Given the description of an element on the screen output the (x, y) to click on. 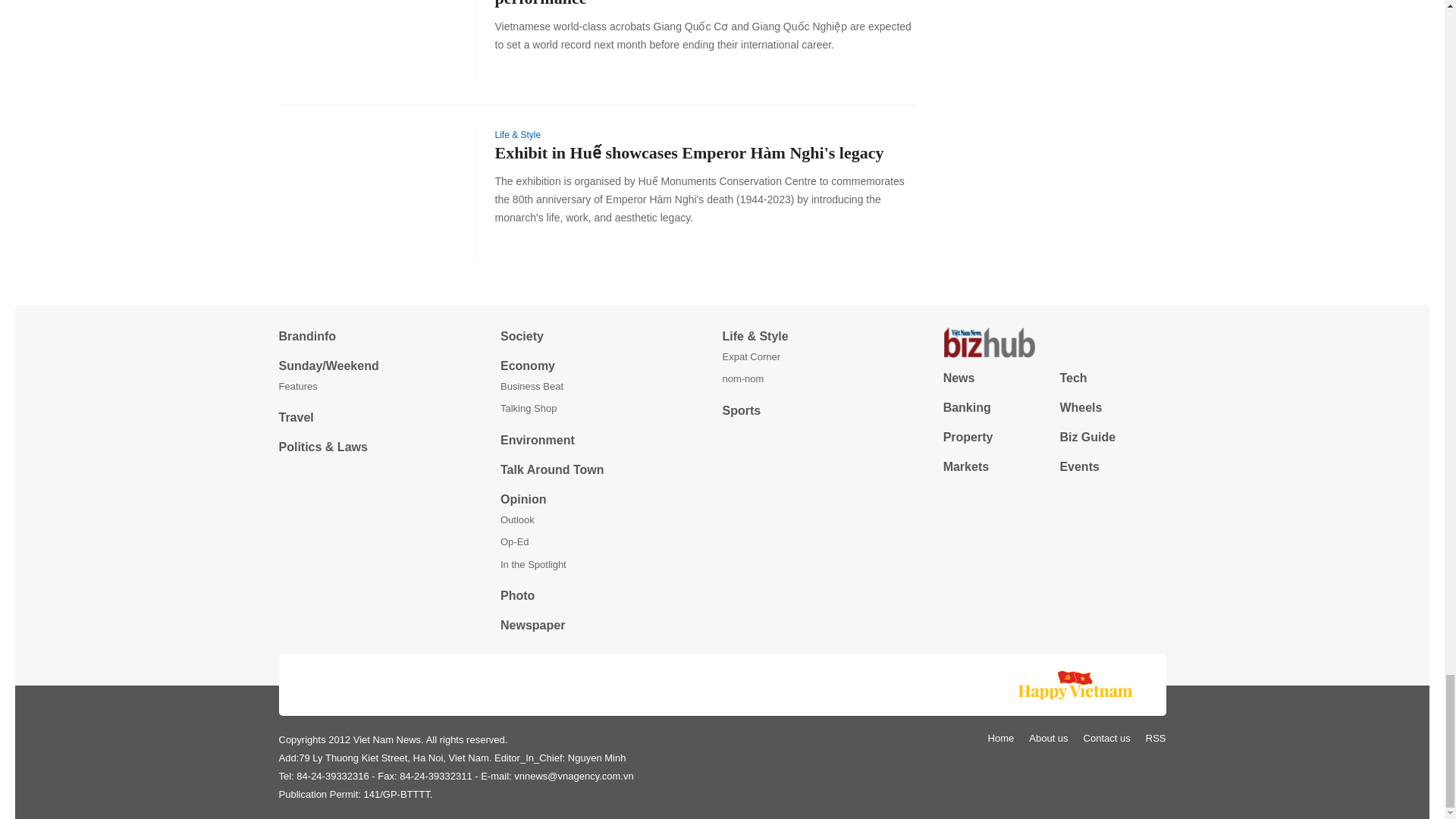
bizhub (1054, 342)
